Given the description of an element on the screen output the (x, y) to click on. 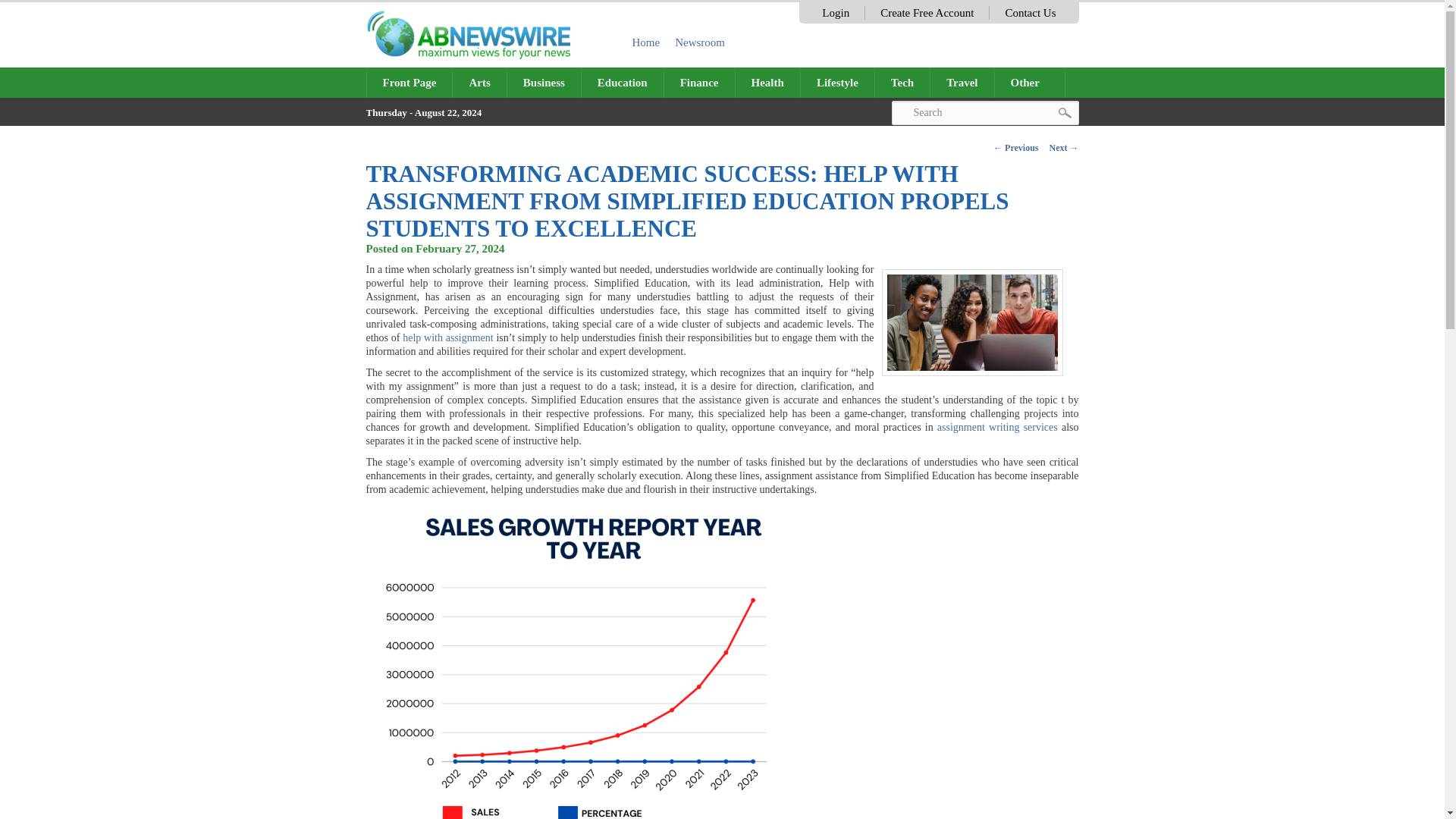
Arts (478, 82)
Newsroom (700, 42)
Education (622, 82)
Lifestyle (836, 82)
Tech (901, 82)
Front Page (409, 82)
Business (544, 82)
Create Free Account (926, 12)
Finance (698, 82)
